Given the description of an element on the screen output the (x, y) to click on. 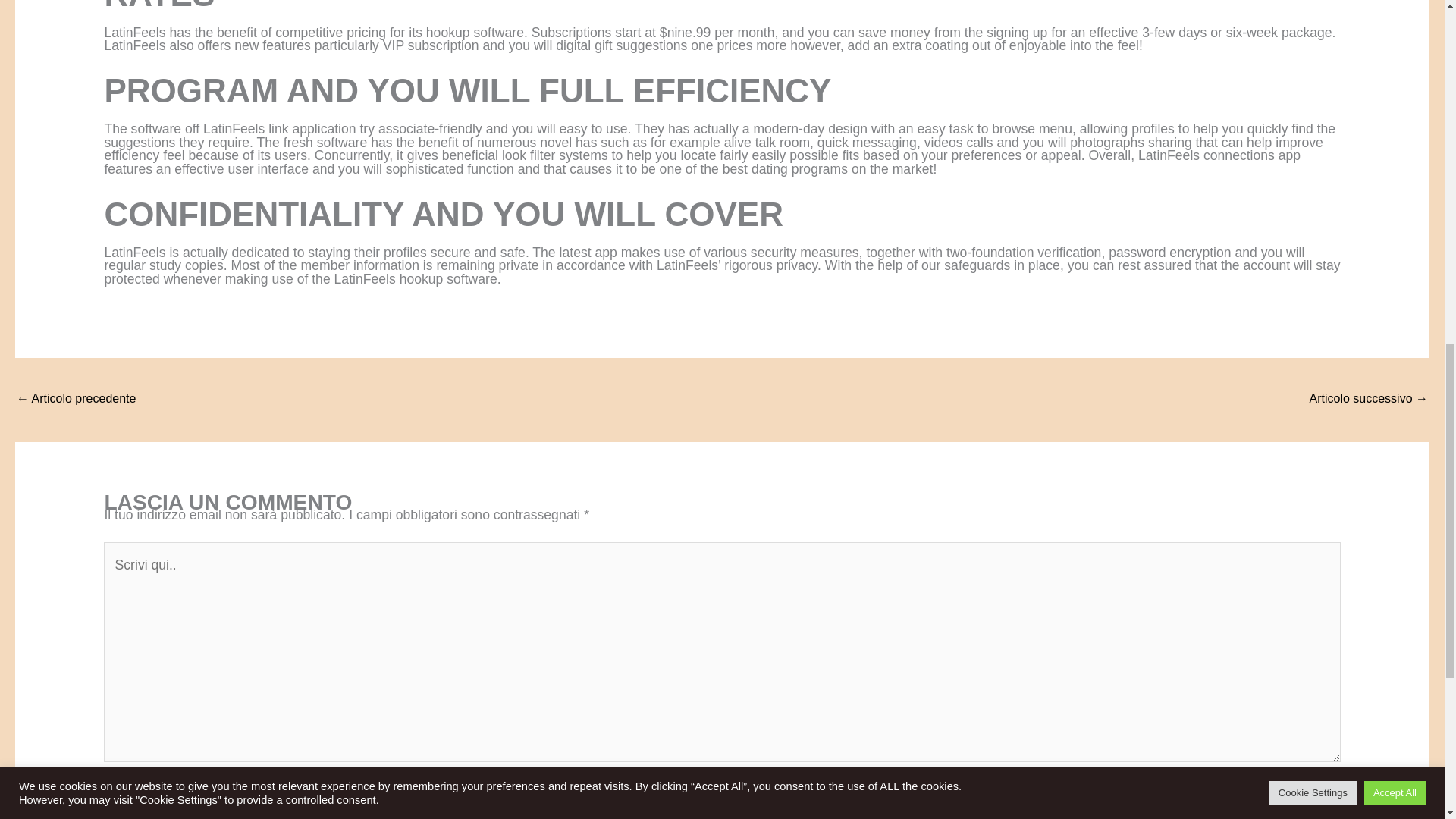
The Fanfic Sex Trope That Caught A Plundering Ai Red-handed (1368, 399)
Haya los novios sobre bailoteo magnnifica hoy por hoy mismo (75, 399)
